Given the description of an element on the screen output the (x, y) to click on. 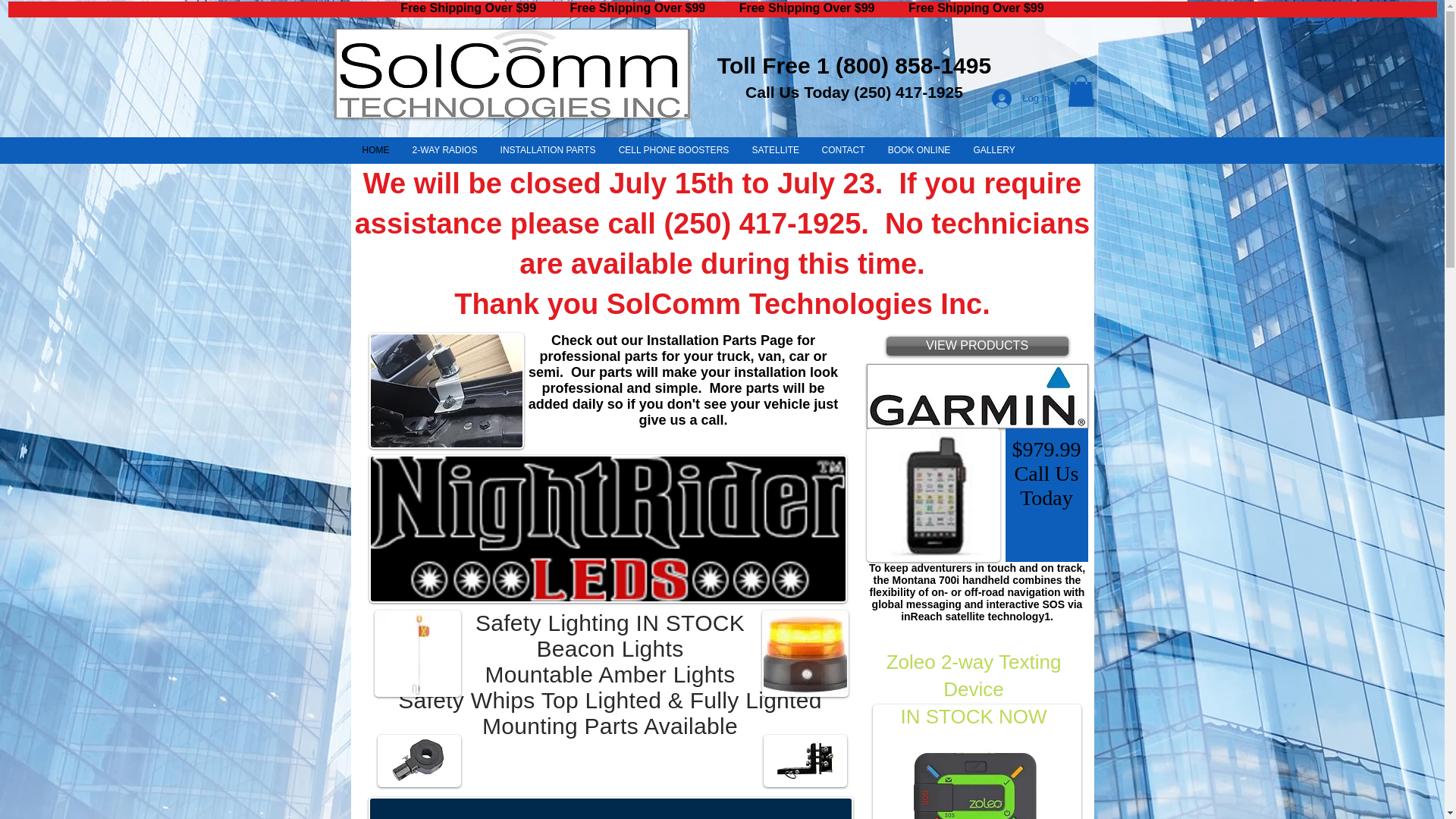
Log In (1020, 98)
VIEW PRODUCTS (976, 345)
SATELLITE (774, 149)
CELL PHONE BOOSTERS (673, 149)
INSTALLATION PARTS (547, 149)
BOOK ONLINE (919, 149)
CONTACT (842, 149)
HOME (375, 149)
2-WAY RADIOS (443, 149)
Portable Radios (976, 395)
GALLERY (993, 149)
